Given the description of an element on the screen output the (x, y) to click on. 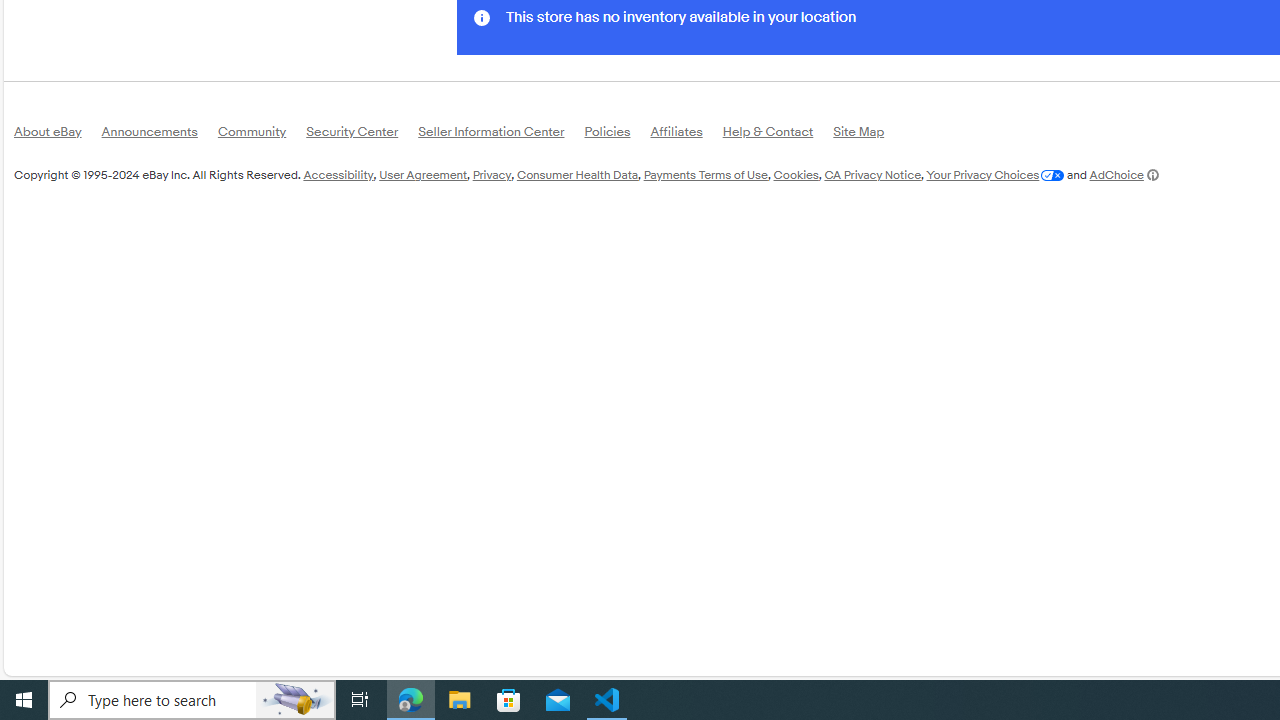
Announcements (159, 136)
Site Map (868, 136)
About eBay (58, 134)
Seller Information Center (501, 136)
Accessibility (338, 174)
User Agreement (423, 174)
Help & Contact (777, 134)
Affiliates (686, 136)
Seller Information Center (501, 134)
CA Privacy Notice (872, 174)
Community (262, 134)
Payments Terms of Use (705, 174)
Security Center (361, 136)
Cookies (796, 174)
